Given the description of an element on the screen output the (x, y) to click on. 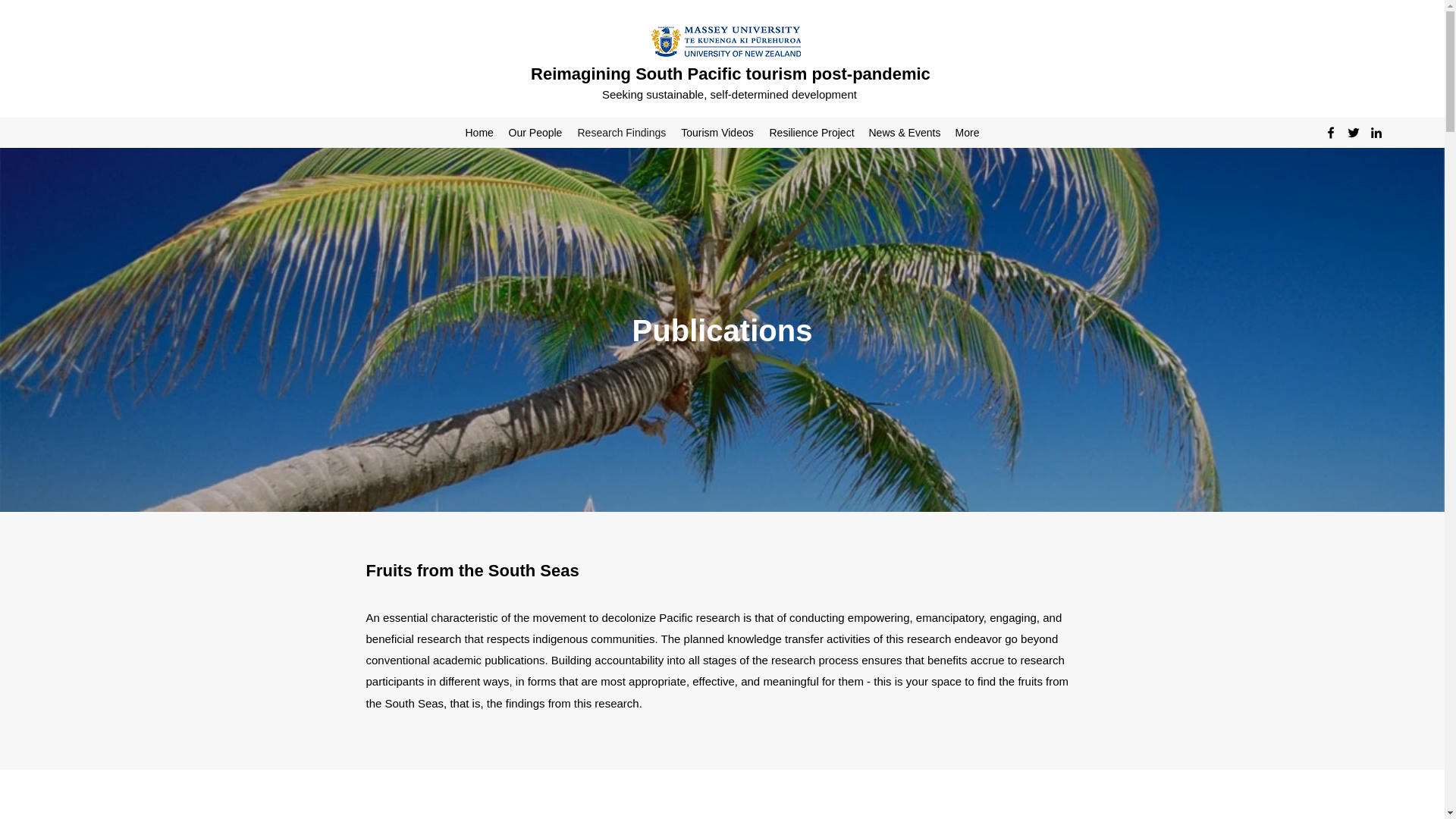
Home (479, 132)
Tourism Videos (716, 132)
Research Findings (621, 132)
Our People (534, 132)
Resilience Project (810, 132)
